Given the description of an element on the screen output the (x, y) to click on. 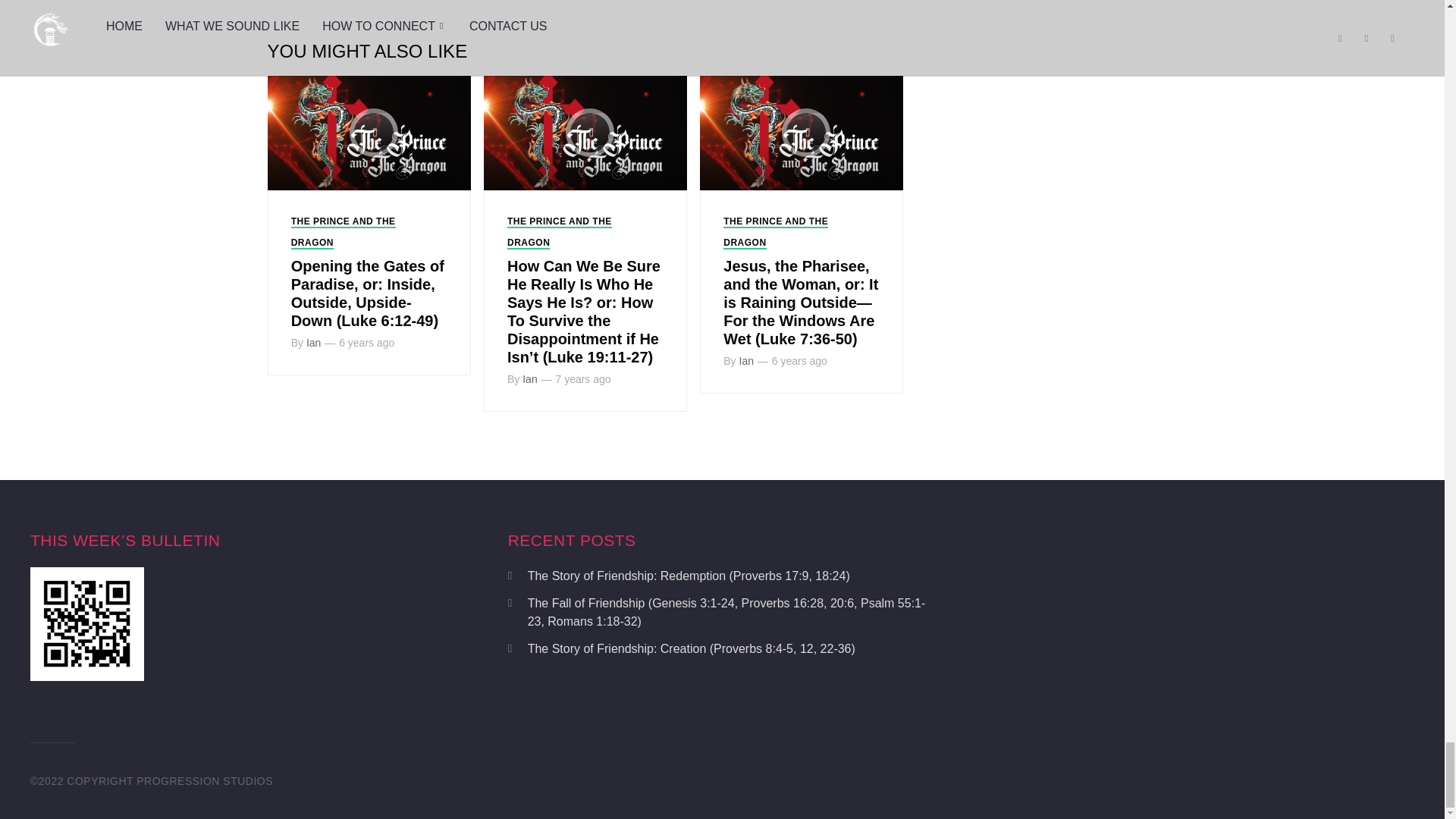
Ian (529, 378)
Ian (312, 342)
THE PRINCE AND THE DRAGON (558, 232)
THE PRINCE AND THE DRAGON (775, 232)
This Week's Bulletin (87, 623)
THE PRINCE AND THE DRAGON (343, 232)
